Given the description of an element on the screen output the (x, y) to click on. 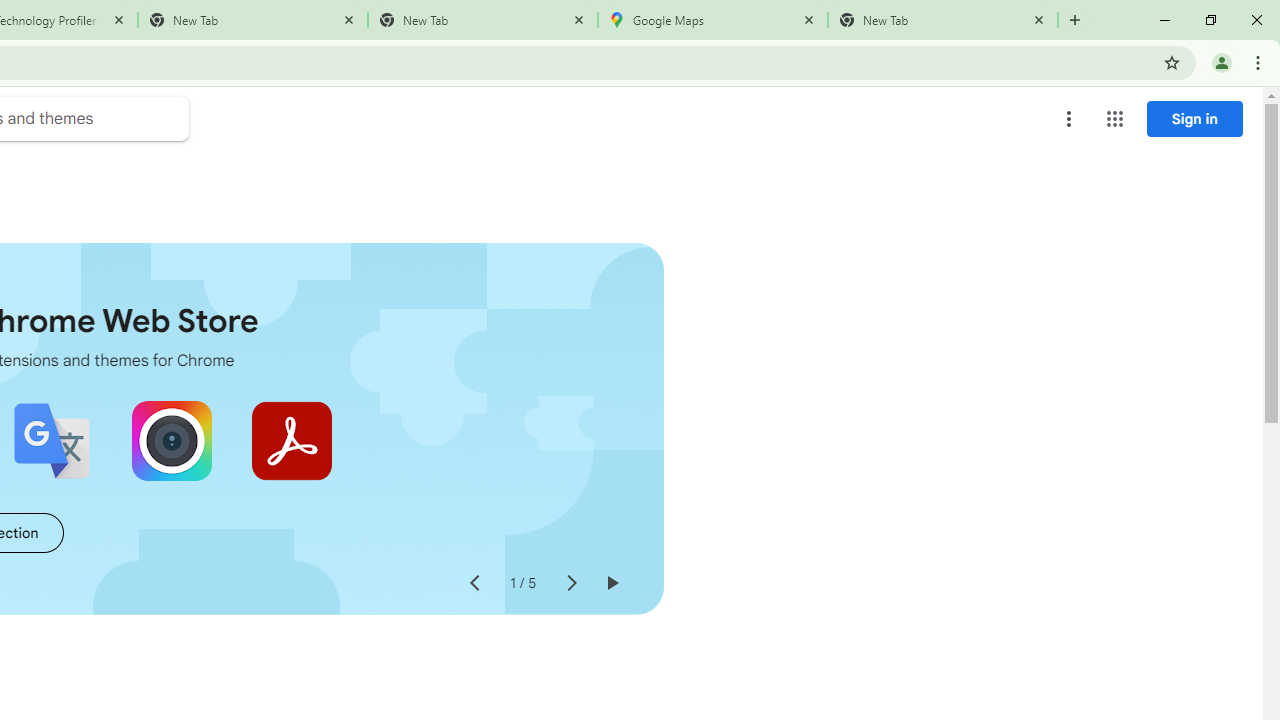
New Tab (482, 20)
Previous slide (474, 583)
